Given the description of an element on the screen output the (x, y) to click on. 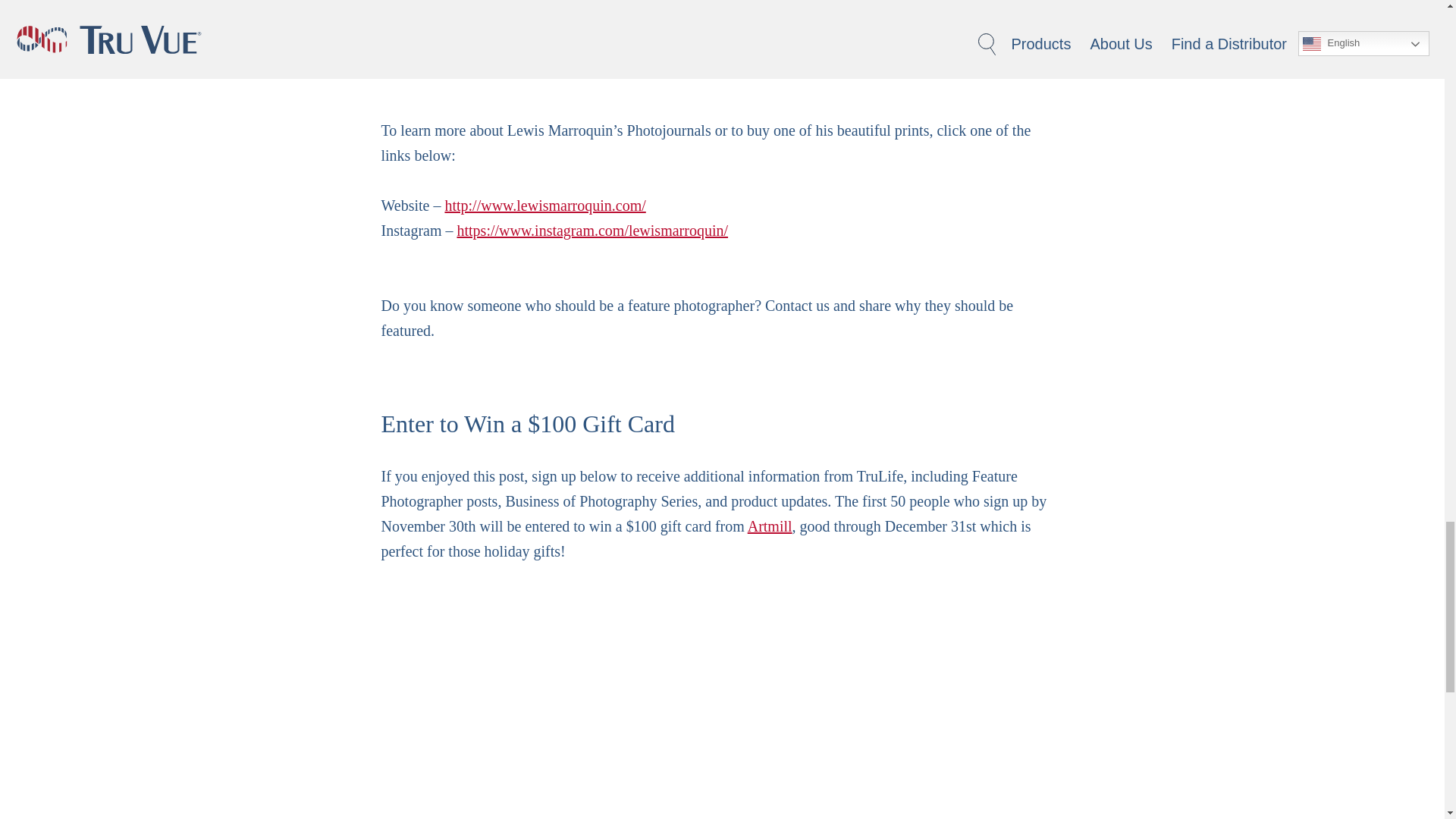
Nikon AF-S NIKKOR 300mm F2.8G ED VR II (678, 30)
Artmill (770, 525)
Nikon D750 DLSR camera (546, 6)
